Given the description of an element on the screen output the (x, y) to click on. 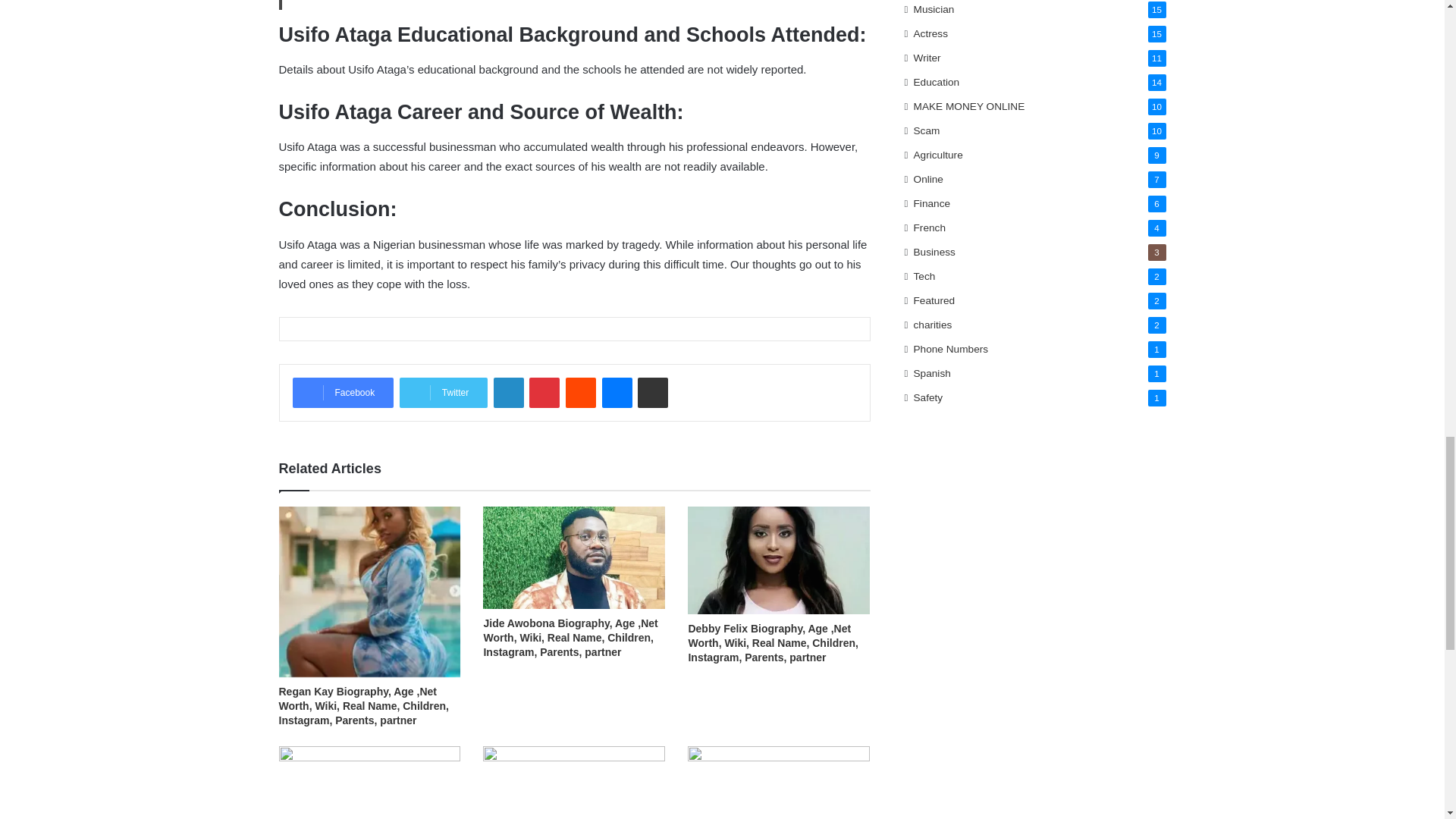
Pinterest (544, 392)
LinkedIn (508, 392)
Facebook (343, 392)
Pinterest (544, 392)
Messenger (616, 392)
Reddit (580, 392)
Share via Email (652, 392)
Reddit (580, 392)
Facebook (343, 392)
Share via Email (652, 392)
LinkedIn (508, 392)
Twitter (442, 392)
